Given the description of an element on the screen output the (x, y) to click on. 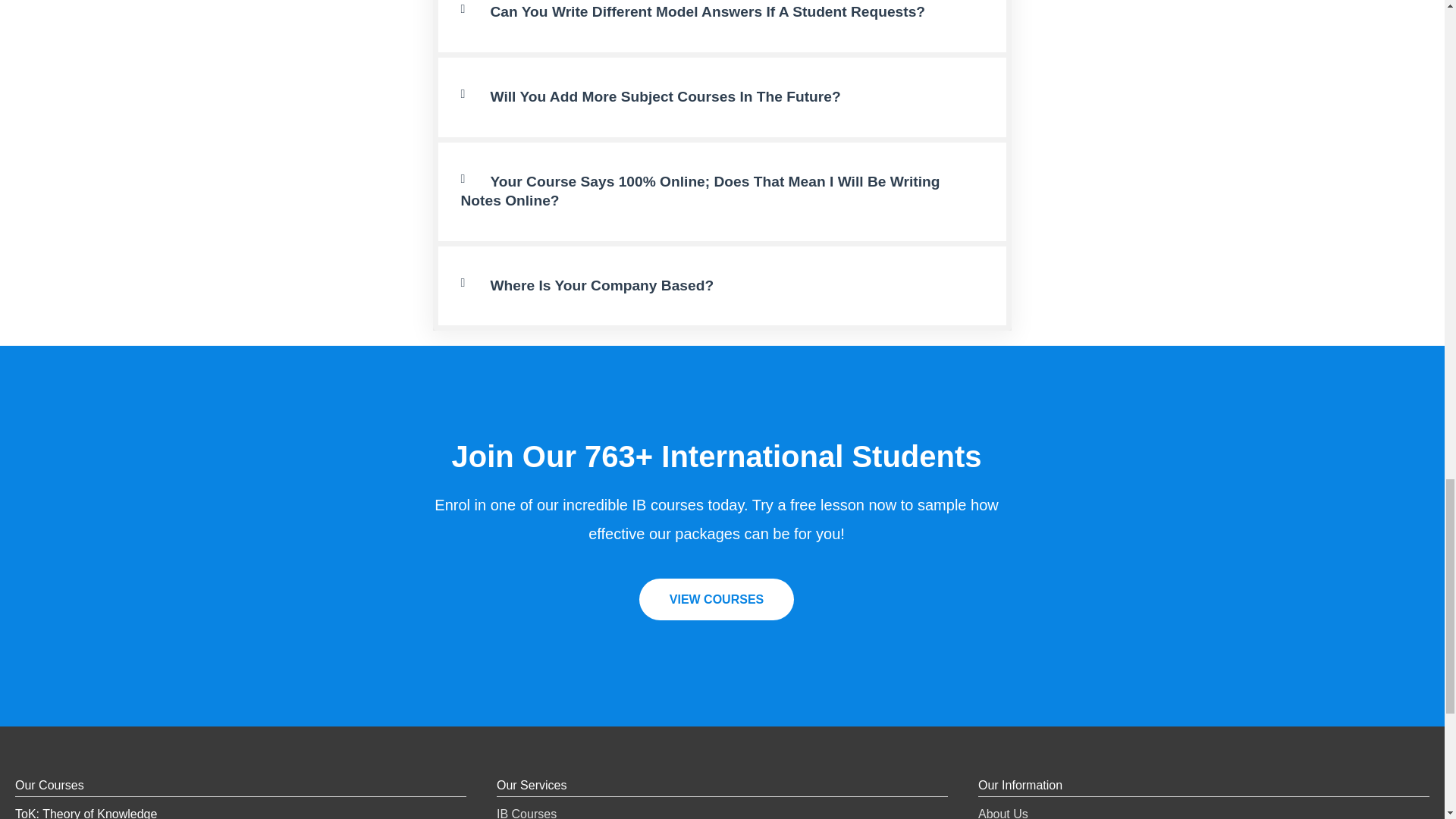
Will You Add More Subject Courses In The Future? (664, 96)
VIEW COURSES (716, 598)
About Us (1002, 813)
Where Is Your Company Based? (601, 285)
IB Courses (526, 813)
Can You Write Different Model Answers If A Student Requests? (706, 11)
